Given the description of an element on the screen output the (x, y) to click on. 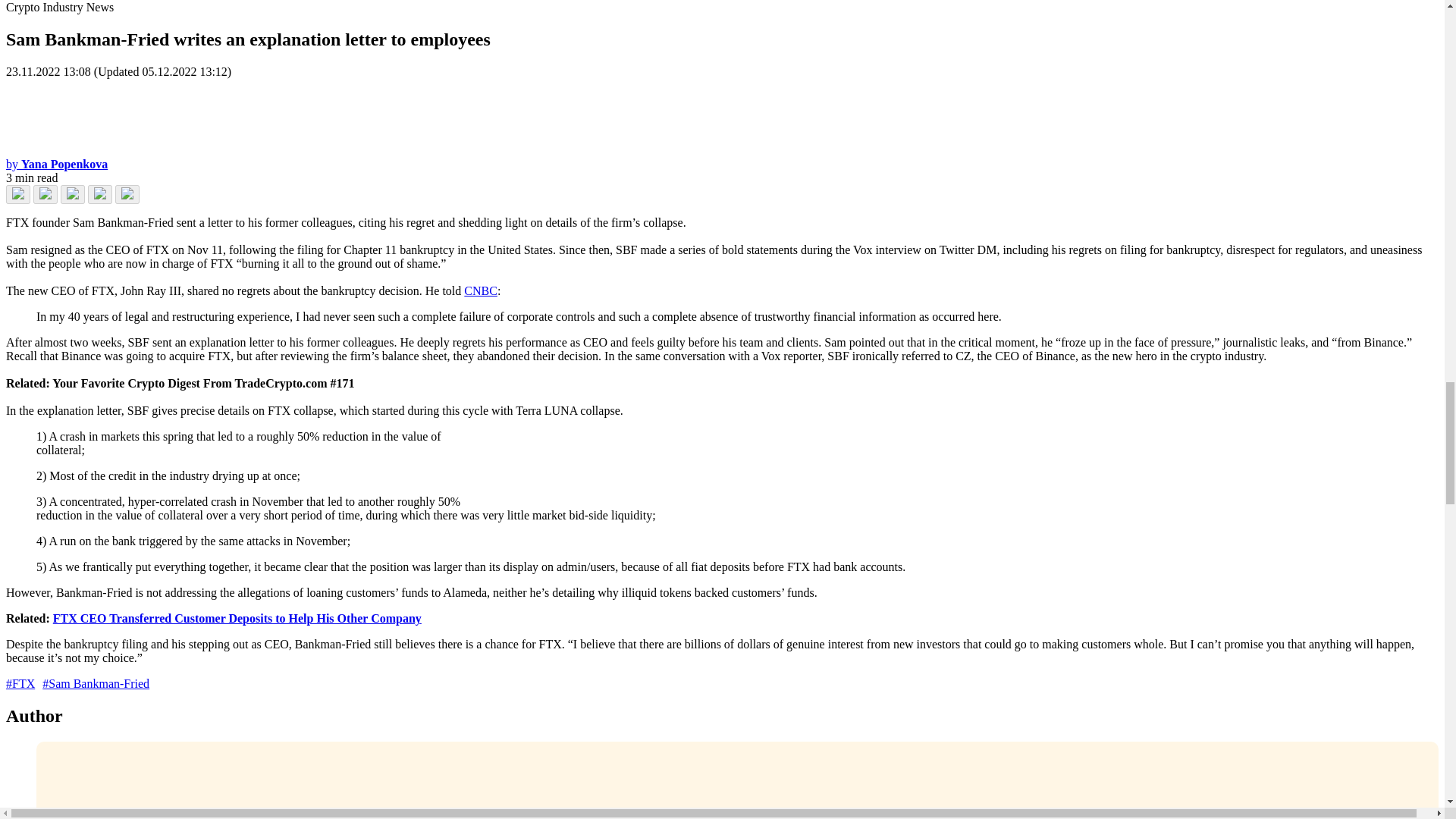
pinterest (99, 194)
twitter (72, 194)
Telegram (127, 194)
Linkedin (45, 194)
Facebook (17, 194)
